Given the description of an element on the screen output the (x, y) to click on. 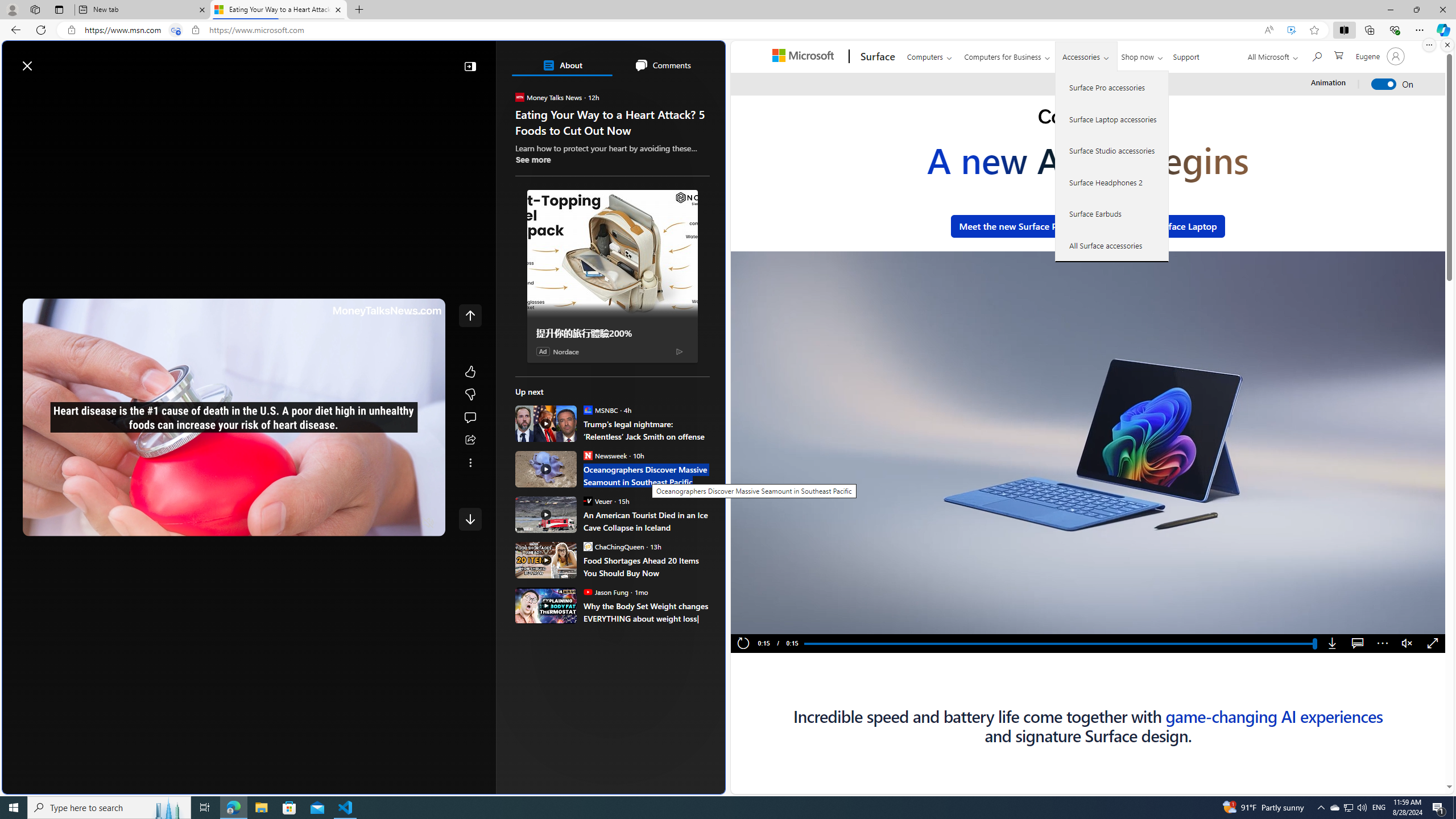
Surface Laptop accessories (1112, 119)
Seek Back (62, 523)
Close split screen. (1447, 45)
The Associated Press (554, 366)
Seek Forward (85, 523)
MSNBC (587, 409)
Enter your search term (366, 59)
Jason Fung (587, 591)
